Given the description of an element on the screen output the (x, y) to click on. 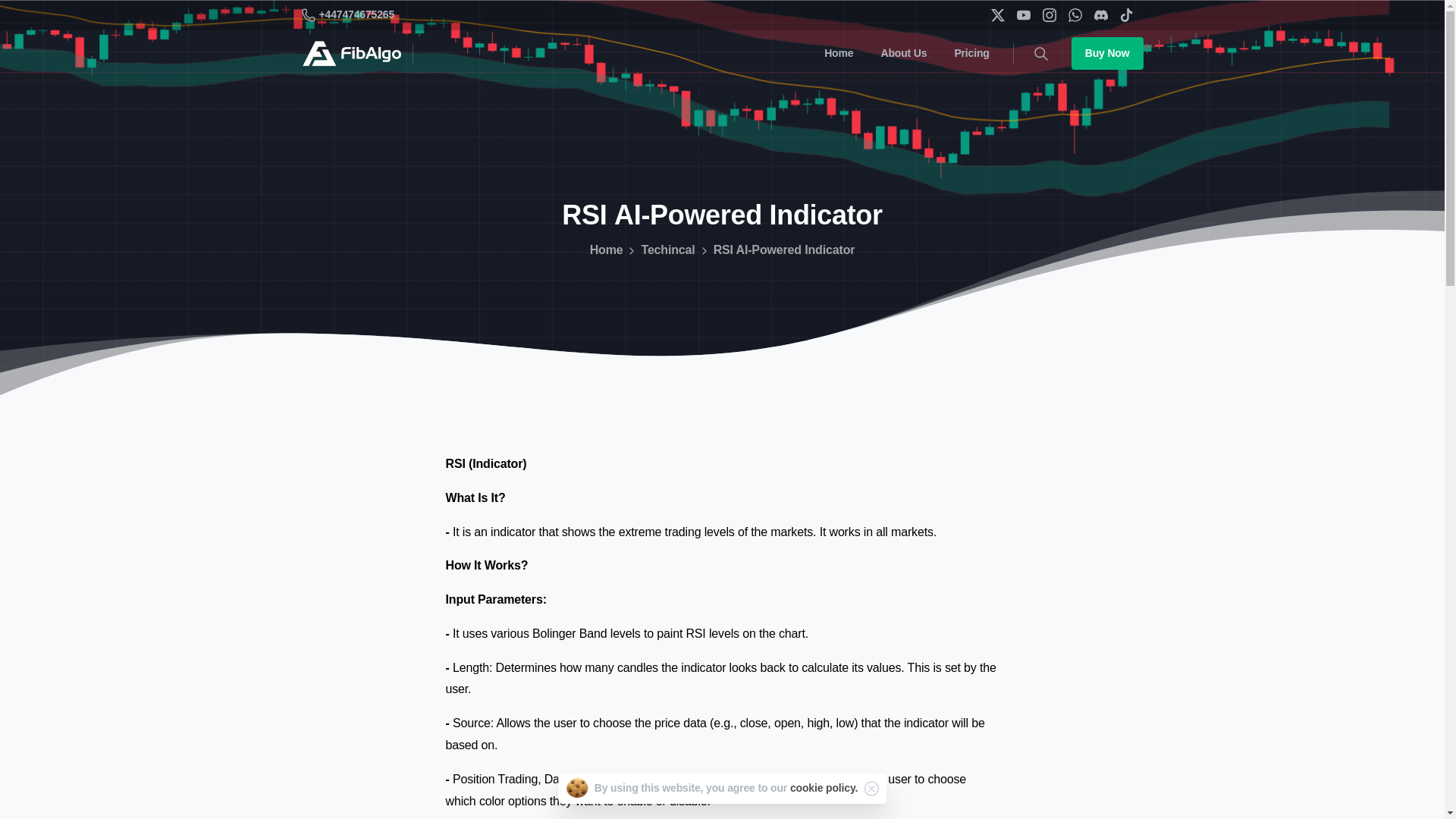
X (997, 15)
Techincal (667, 250)
Pricing (970, 53)
cookie policy. (823, 787)
Home (606, 250)
Home (838, 53)
Instagram (1048, 15)
Home (838, 53)
Buy Now (1106, 52)
Discord (1100, 15)
Pricing (970, 53)
YouTube (1022, 15)
TikTok (1125, 15)
About Us (904, 53)
About Us (904, 53)
